Given the description of an element on the screen output the (x, y) to click on. 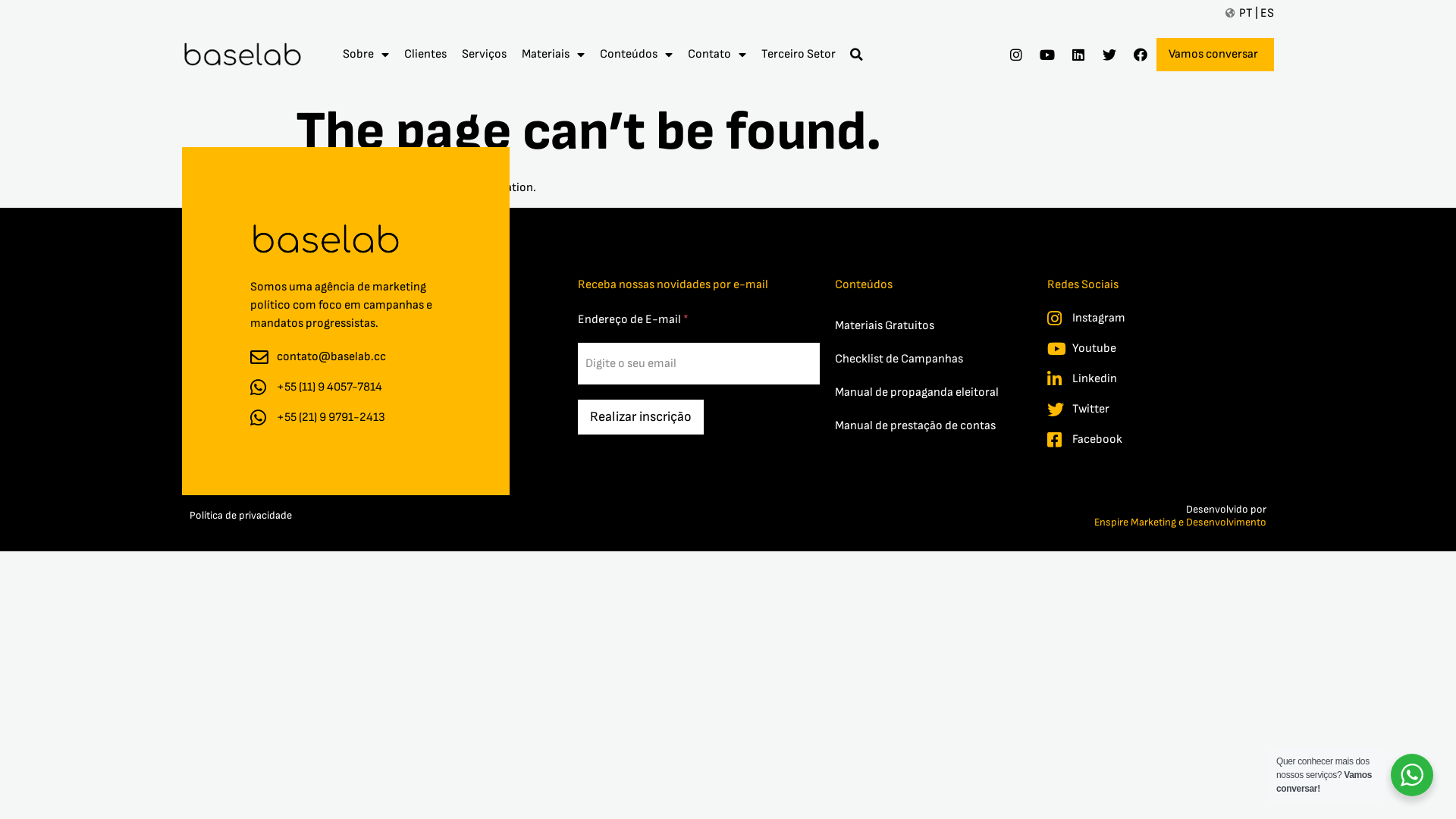
Twitter Element type: text (1124, 409)
Materiais Gratuitos Element type: text (933, 325)
Sobre Element type: text (365, 54)
PT | ES Element type: text (1249, 13)
Linkedin Element type: text (1124, 379)
Enspire Marketing e Desenvolvimento Element type: text (891, 521)
Manual de propaganda eleitoral Element type: text (933, 392)
Facebook Element type: text (1124, 439)
Contato Element type: text (716, 54)
Terceiro Setor Element type: text (798, 54)
Youtube Element type: text (1124, 348)
Checklist de Campanhas Element type: text (933, 359)
Instagram Element type: text (1124, 318)
Clientes Element type: text (425, 54)
Vamos conversar Element type: text (1215, 54)
Materiais Element type: text (553, 54)
